Given the description of an element on the screen output the (x, y) to click on. 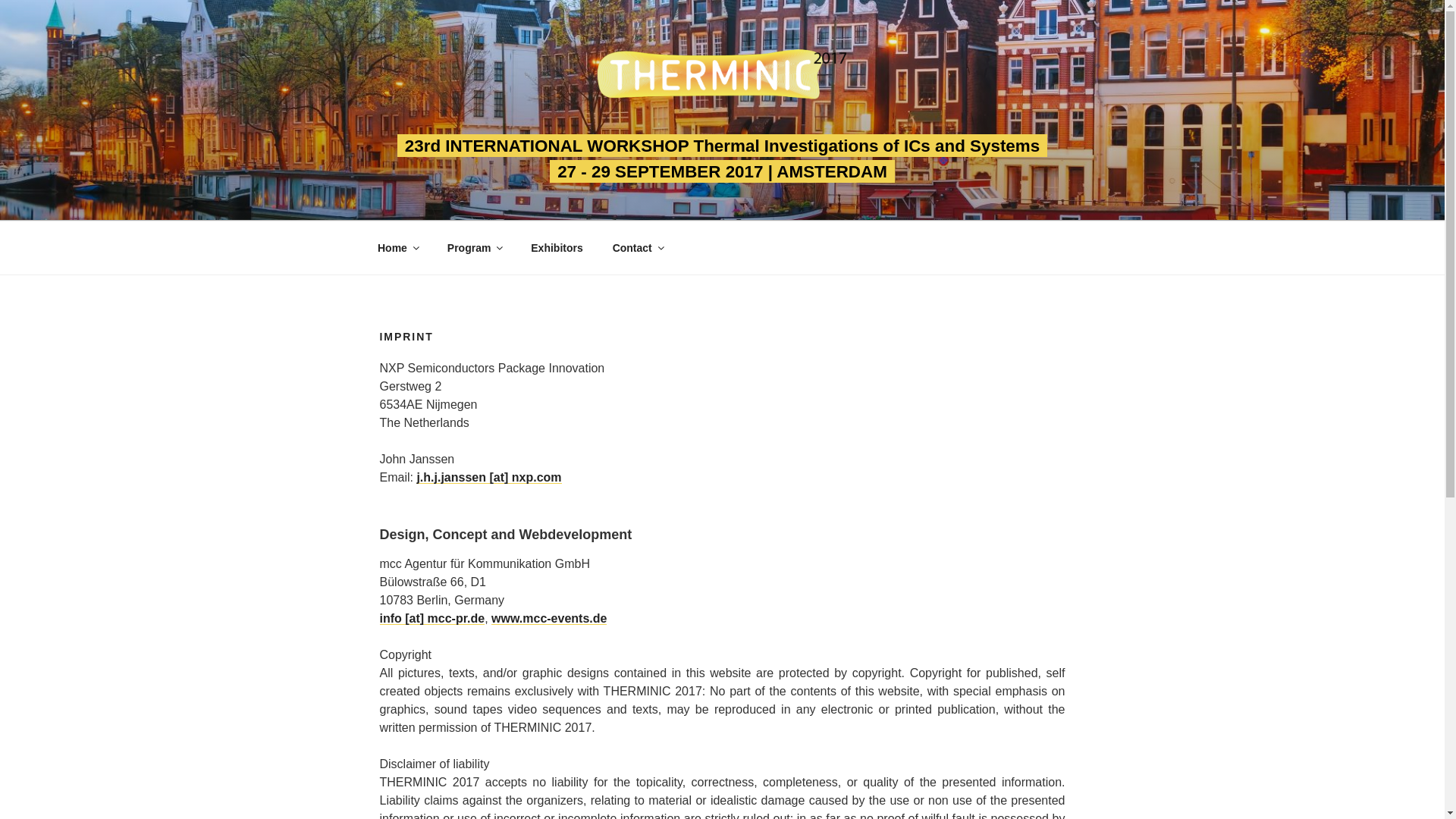
Home (397, 248)
Program (474, 248)
www.mcc-events.de (549, 617)
Contact (636, 248)
Exhibitors (556, 248)
